Given the description of an element on the screen output the (x, y) to click on. 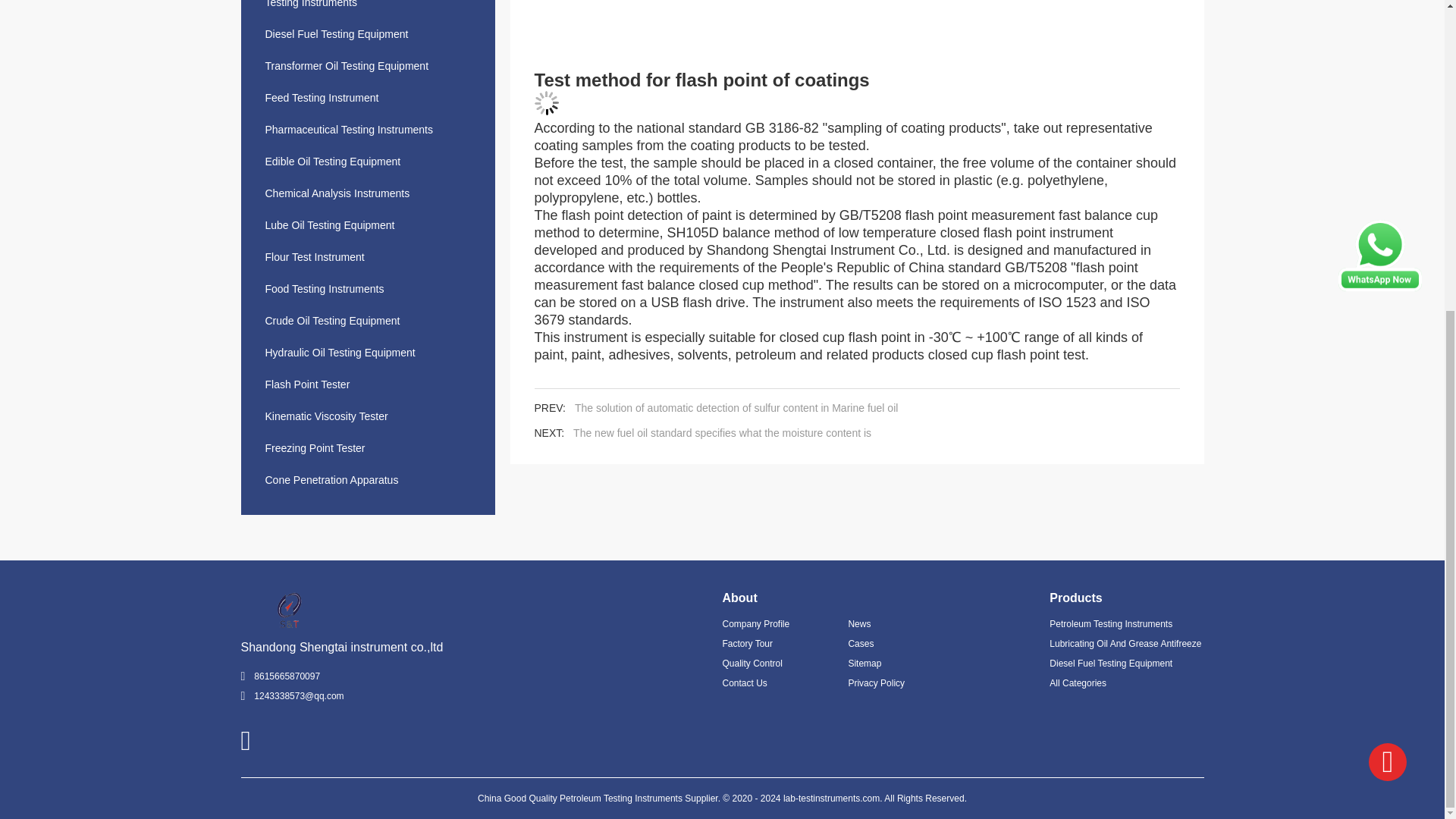
whatsapp Now (1380, 287)
